Given the description of an element on the screen output the (x, y) to click on. 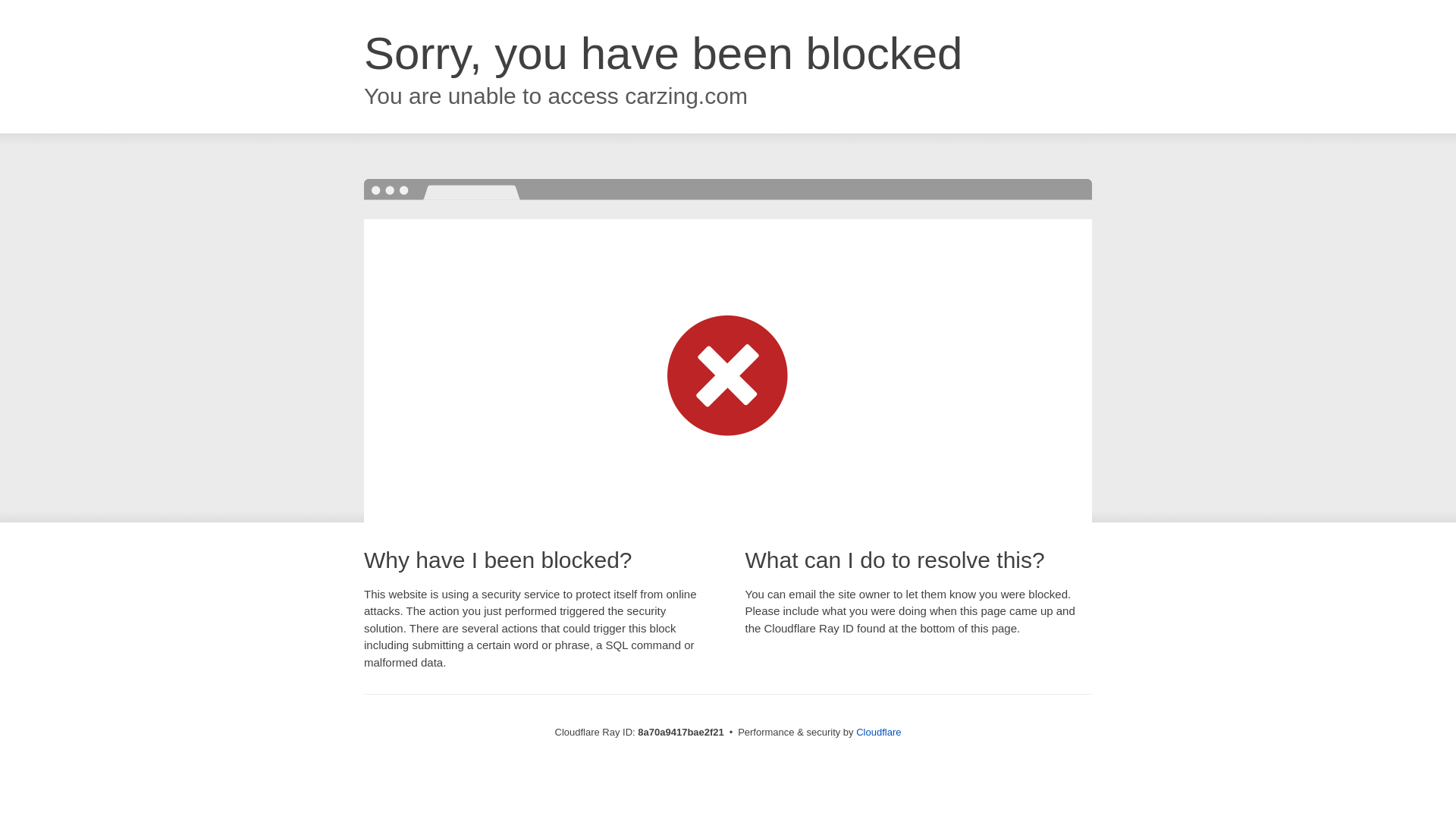
Cloudflare (878, 731)
